Given the description of an element on the screen output the (x, y) to click on. 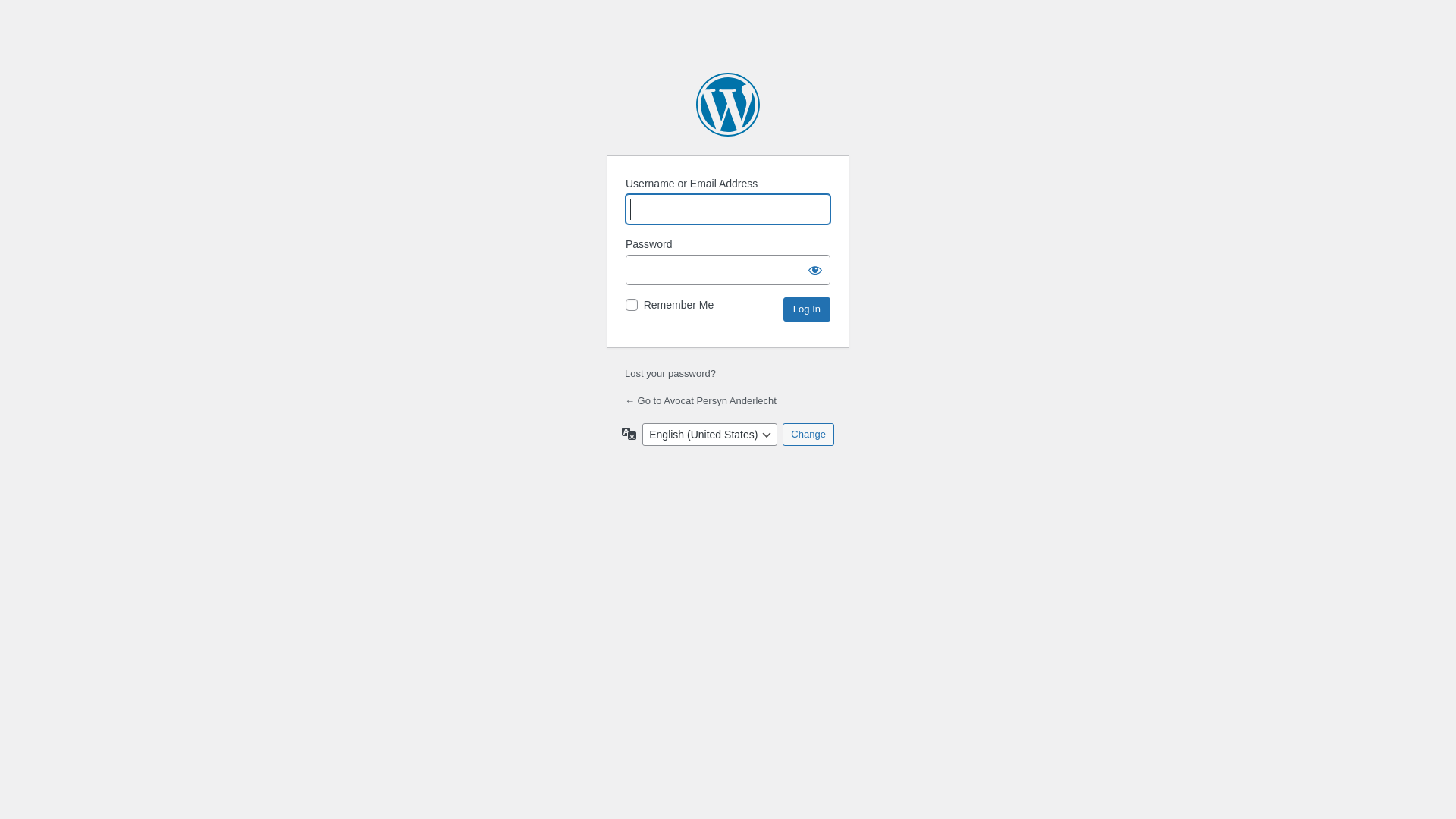
Lost your password? Element type: text (669, 373)
Change Element type: text (808, 434)
Powered by WordPress Element type: text (727, 104)
Log In Element type: text (806, 309)
